Given the description of an element on the screen output the (x, y) to click on. 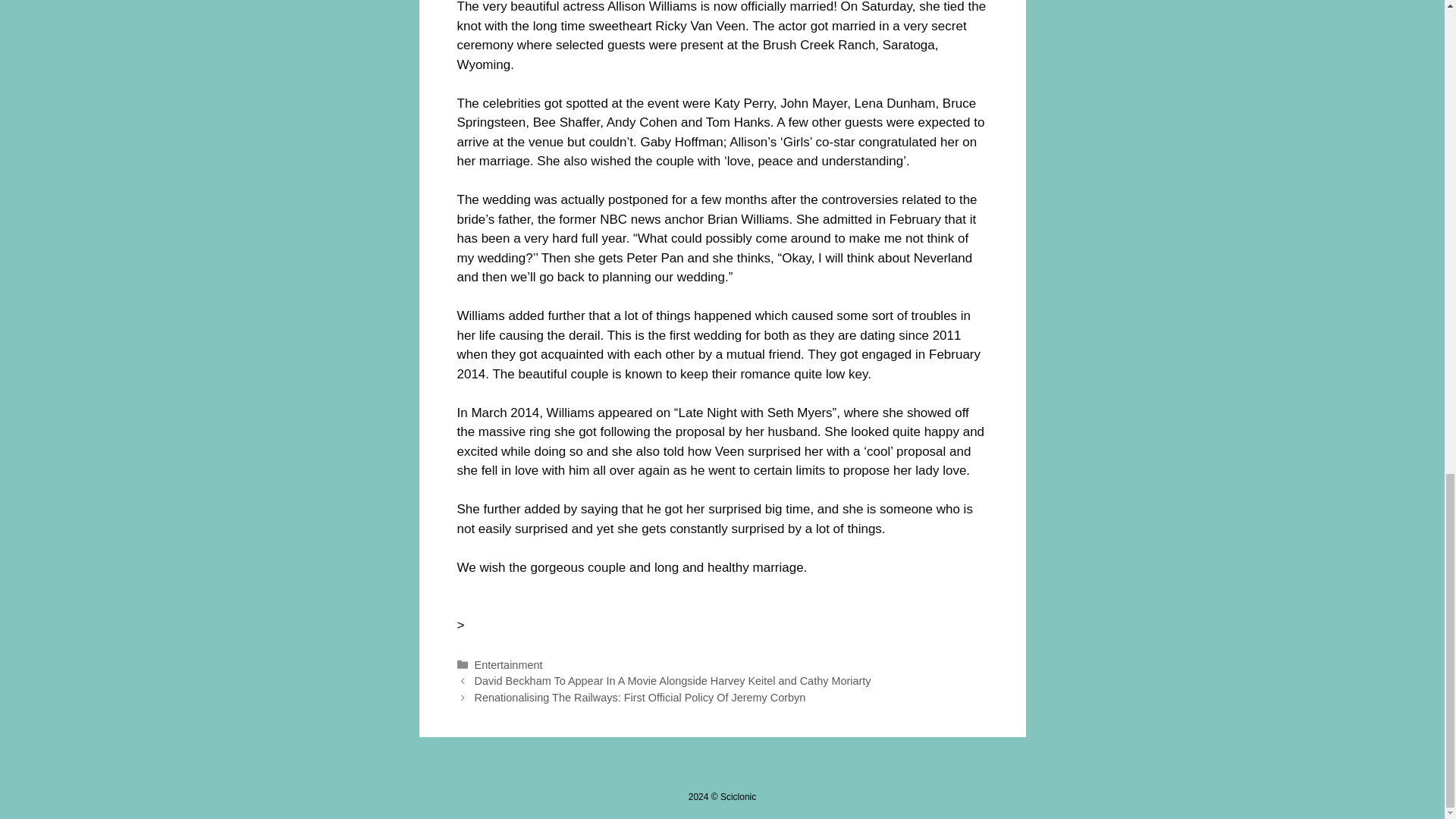
Entertainment (508, 664)
